Given the description of an element on the screen output the (x, y) to click on. 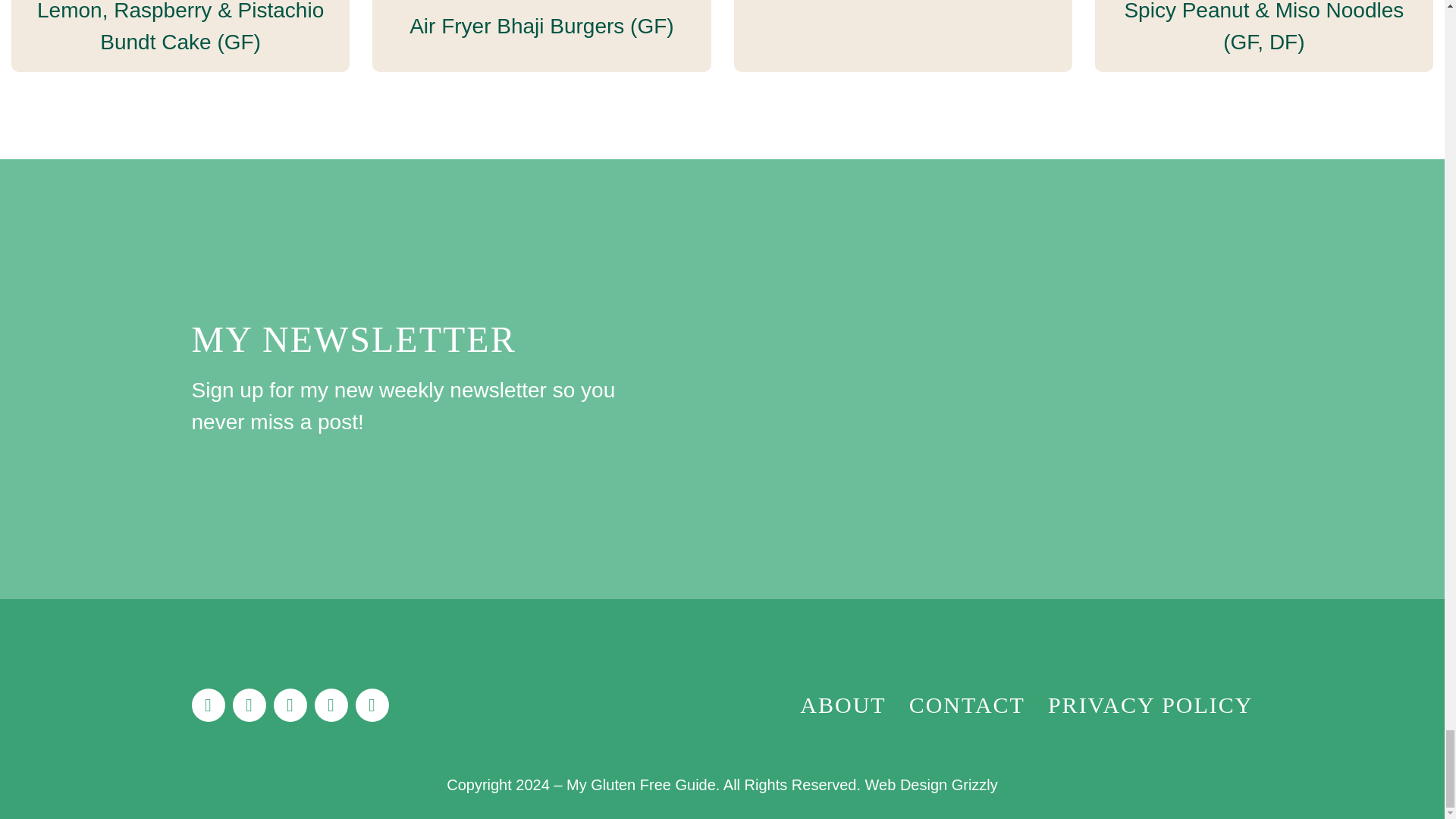
YouTube (371, 704)
Pinterest (330, 704)
Twitter (247, 704)
Facebook (207, 704)
Instagram (289, 704)
